Given the description of an element on the screen output the (x, y) to click on. 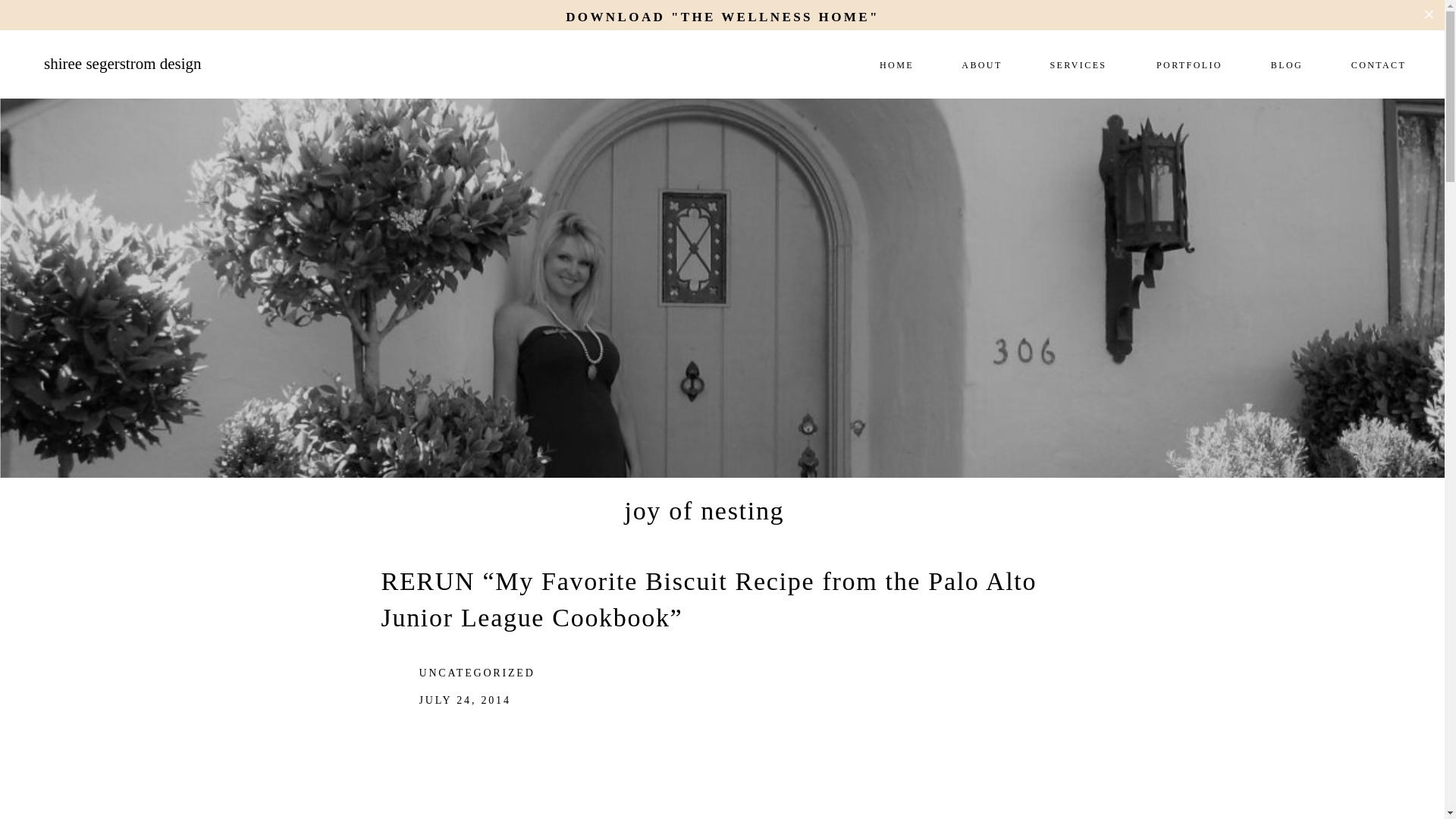
HOME (896, 63)
CONTACT (1378, 63)
PORTFOLIO (1189, 63)
UNCATEGORIZED (476, 672)
ABOUT (981, 63)
BLOG (1286, 63)
DOWNLOAD "THE WELLNESS HOME" (721, 14)
SERVICES (1078, 63)
shiree segerstrom design (181, 70)
